Given the description of an element on the screen output the (x, y) to click on. 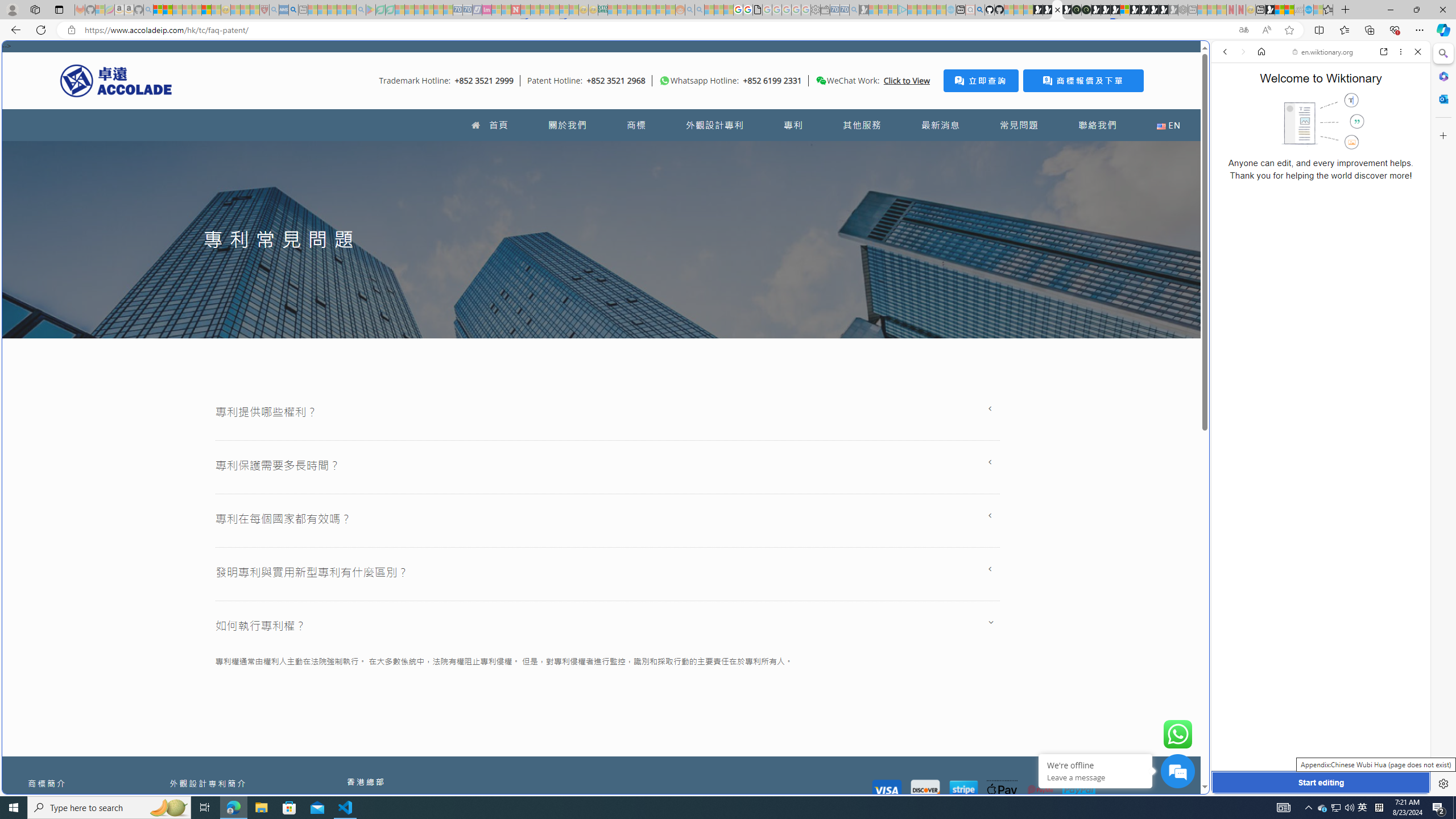
Class: desktop (821, 80)
Future Focus Report 2024 (1085, 9)
